Given the description of an element on the screen output the (x, y) to click on. 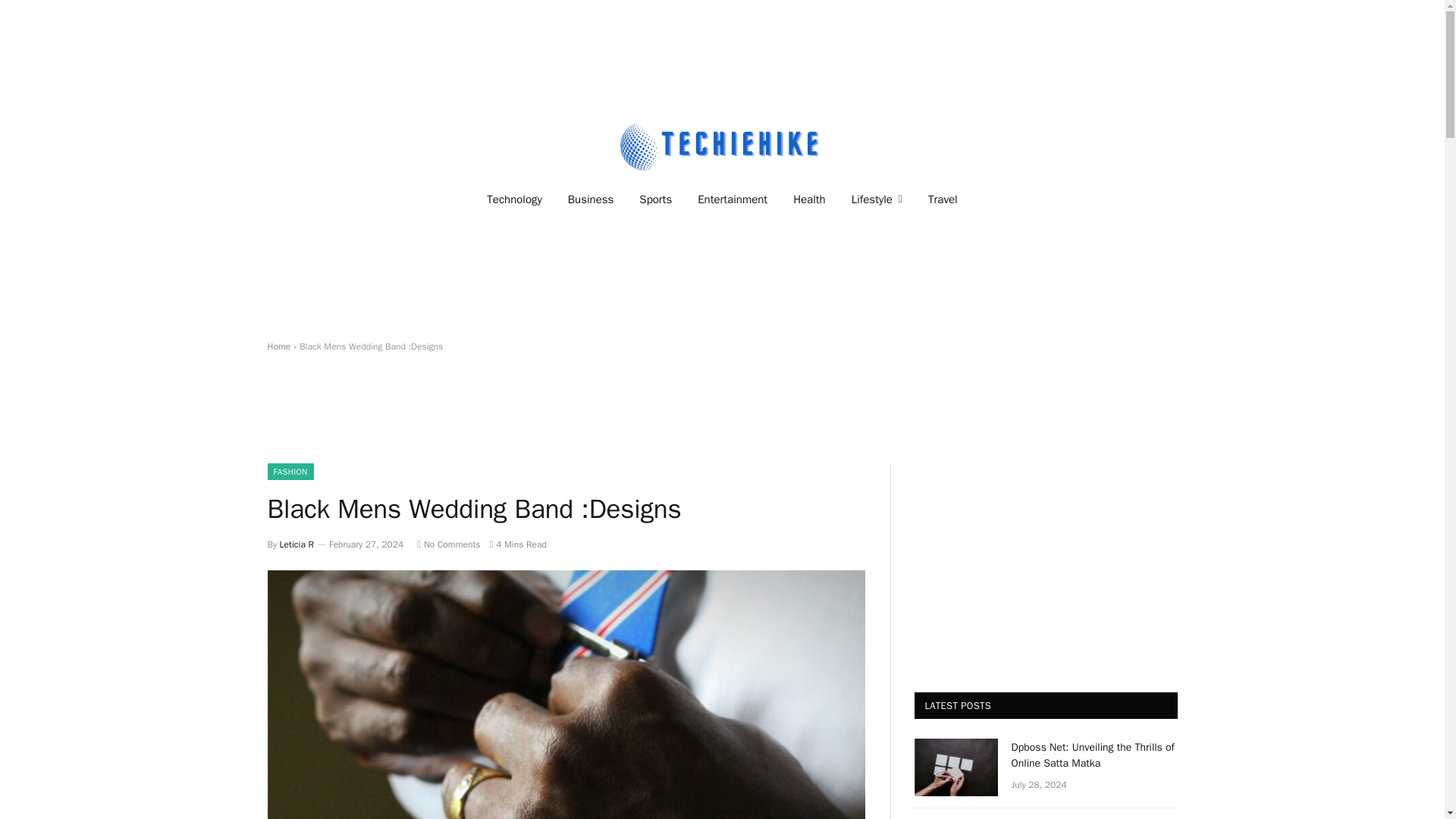
Advertisement (721, 280)
Business (590, 199)
Home (277, 346)
Travel (943, 199)
Advertisement (721, 56)
Entertainment (732, 199)
Sports (655, 199)
Leticia R (296, 544)
Lifestyle (876, 199)
Posts by Leticia R (296, 544)
Advertisement (721, 418)
Dpboss Net: Unveiling the Thrills of Online Satta Matka (1094, 755)
Health (809, 199)
Techie Hike (722, 145)
